Given the description of an element on the screen output the (x, y) to click on. 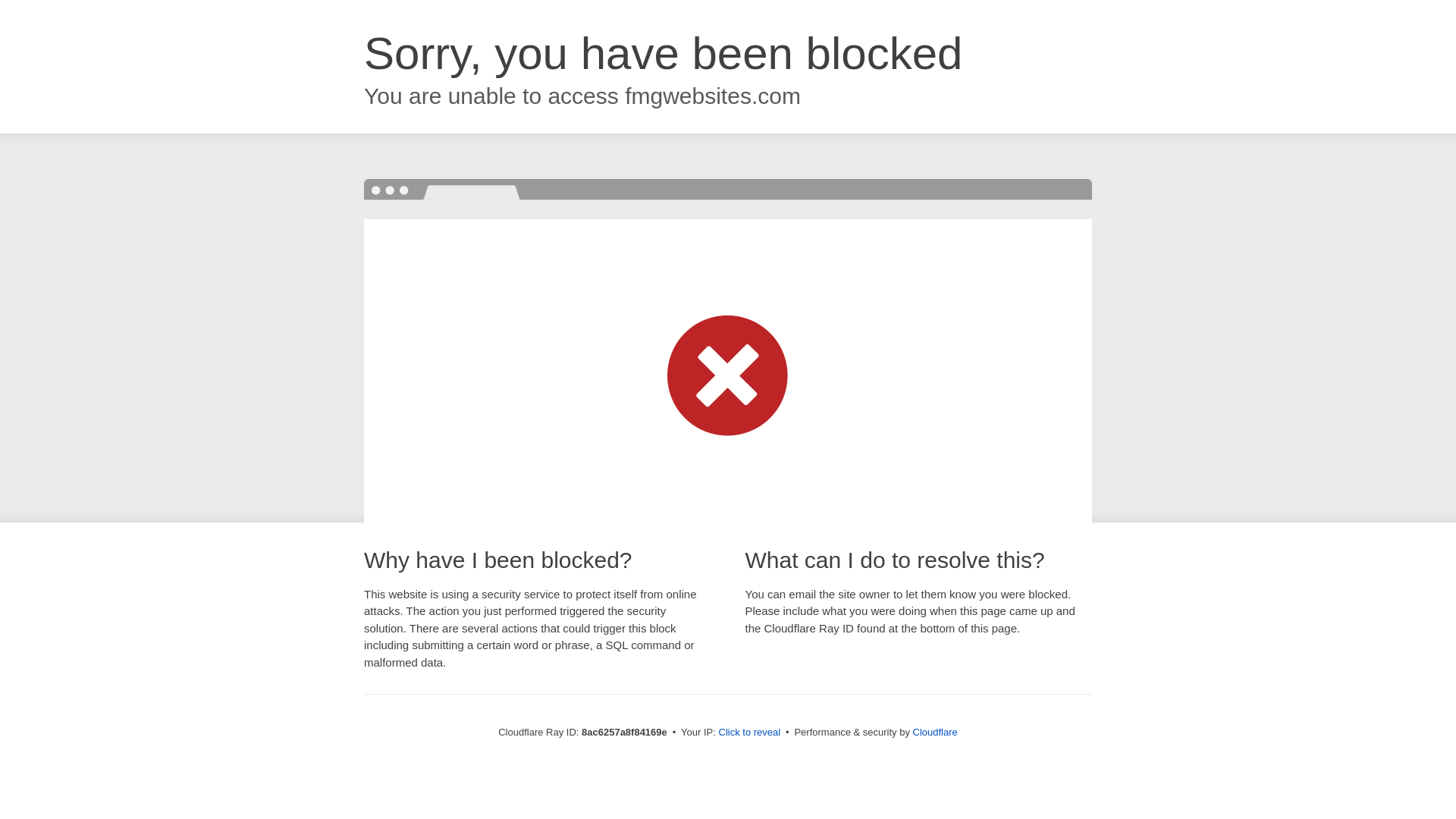
Click to reveal (749, 732)
Cloudflare (935, 731)
